Given the description of an element on the screen output the (x, y) to click on. 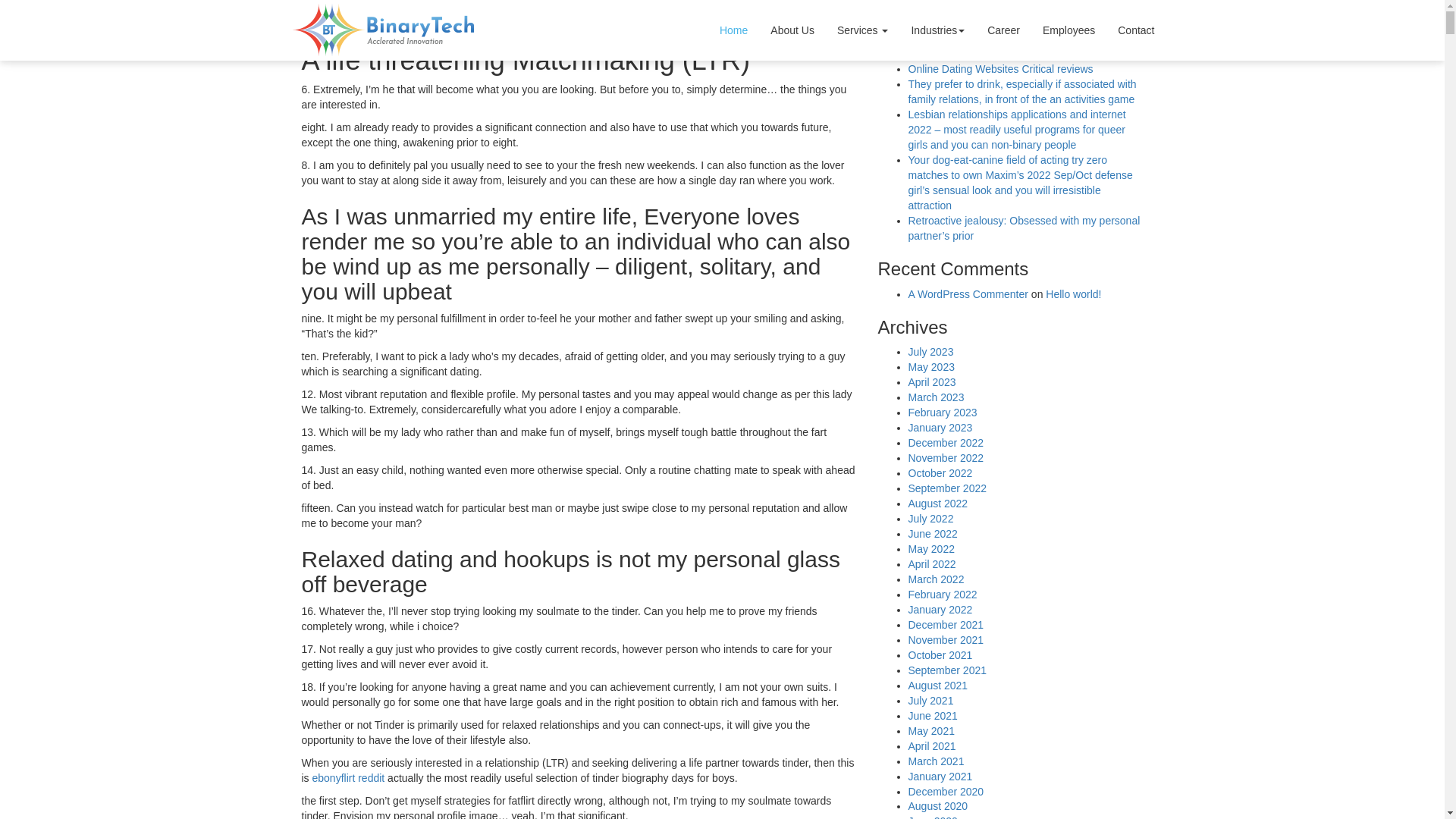
Employees (1068, 30)
ebonyflirt reddit (349, 777)
A WordPress Commenter (967, 294)
Services (862, 30)
Hello world! (1072, 294)
April 2023 (932, 381)
May 2023 (931, 367)
Search (1021, 12)
Contact (1136, 30)
